Given the description of an element on the screen output the (x, y) to click on. 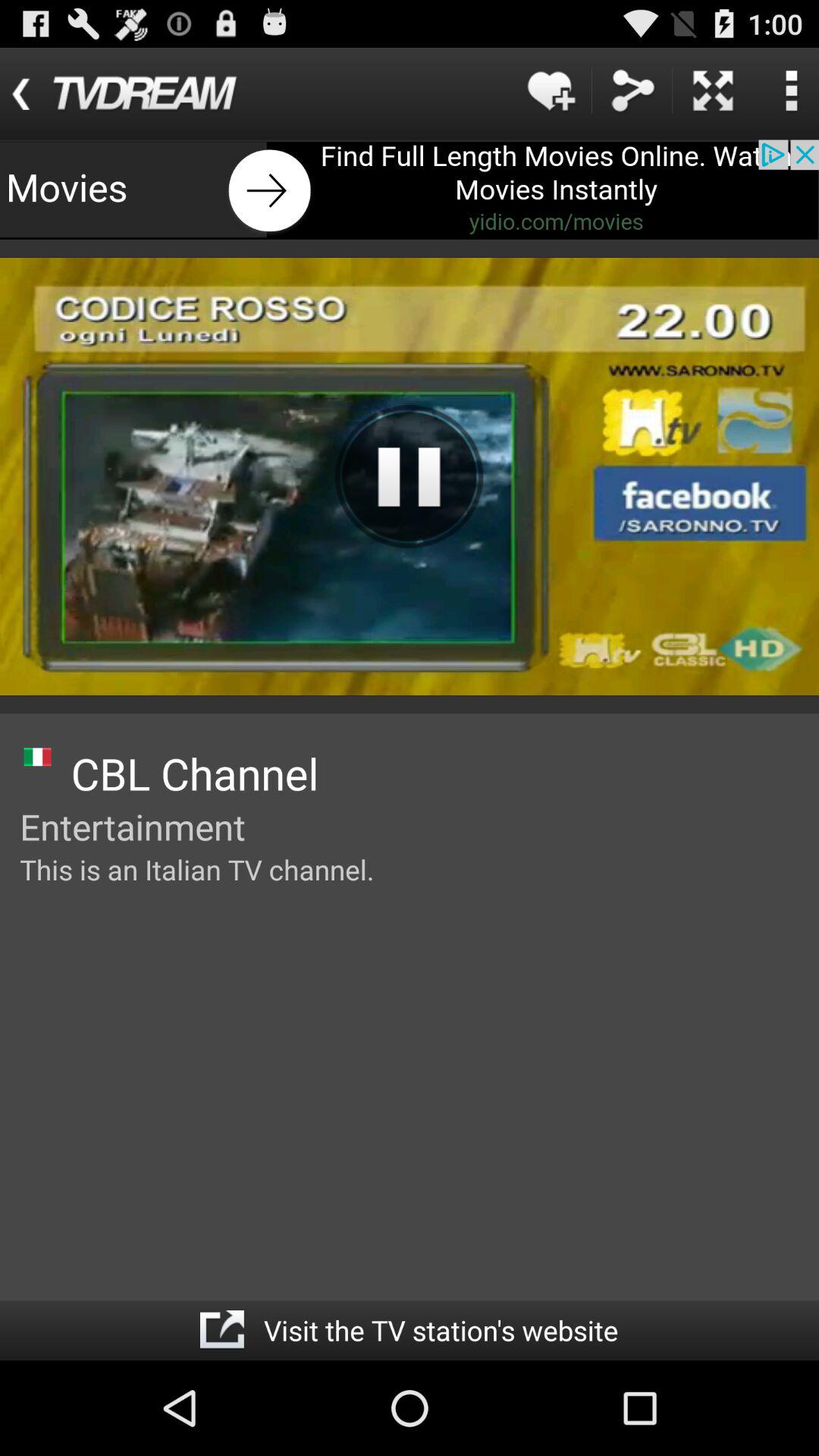
share information (632, 90)
